Given the description of an element on the screen output the (x, y) to click on. 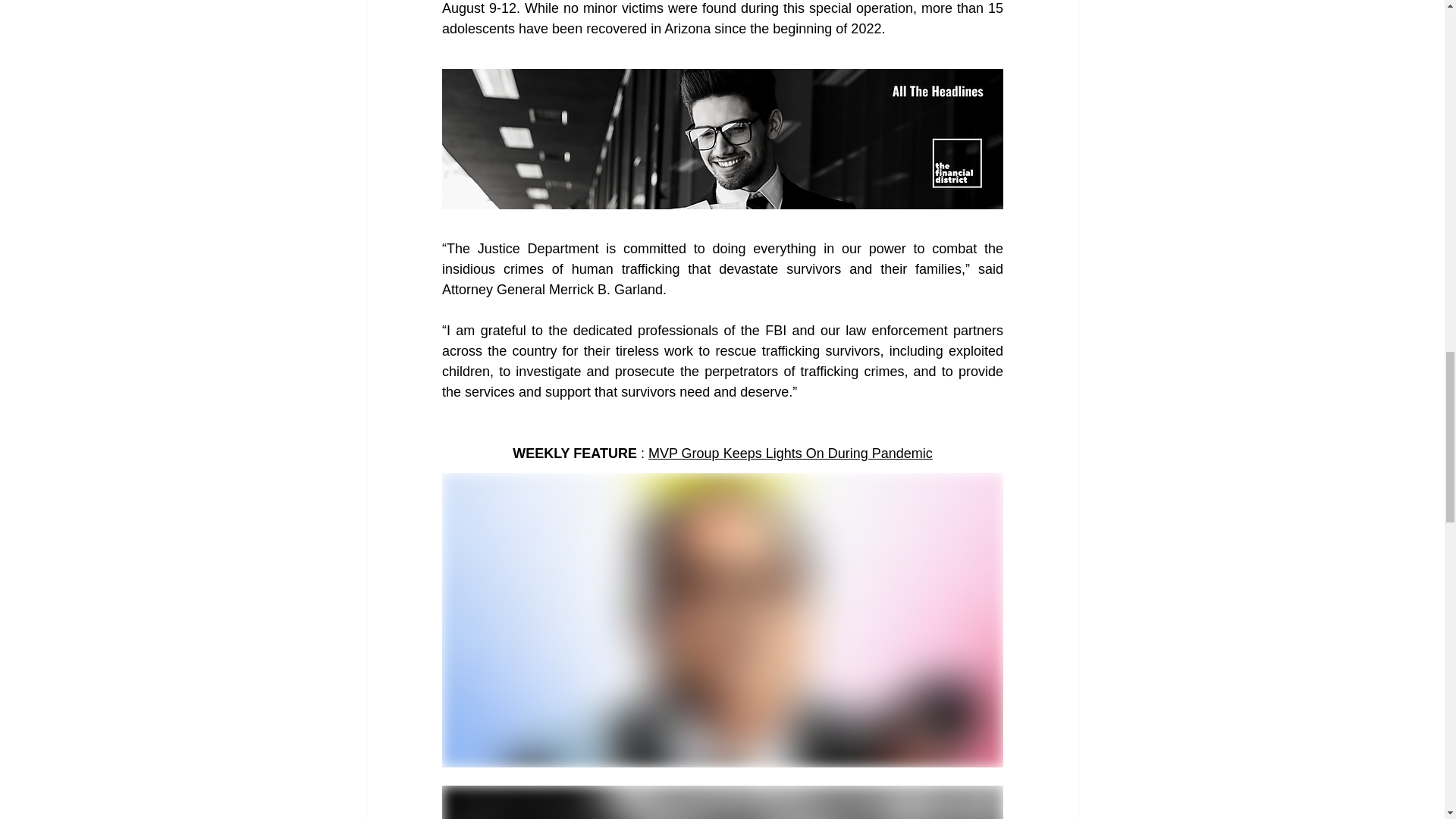
MVP Group Keeps Lights On During Pandemic (789, 453)
WEEKLY FEATURE  (576, 453)
